Given the description of an element on the screen output the (x, y) to click on. 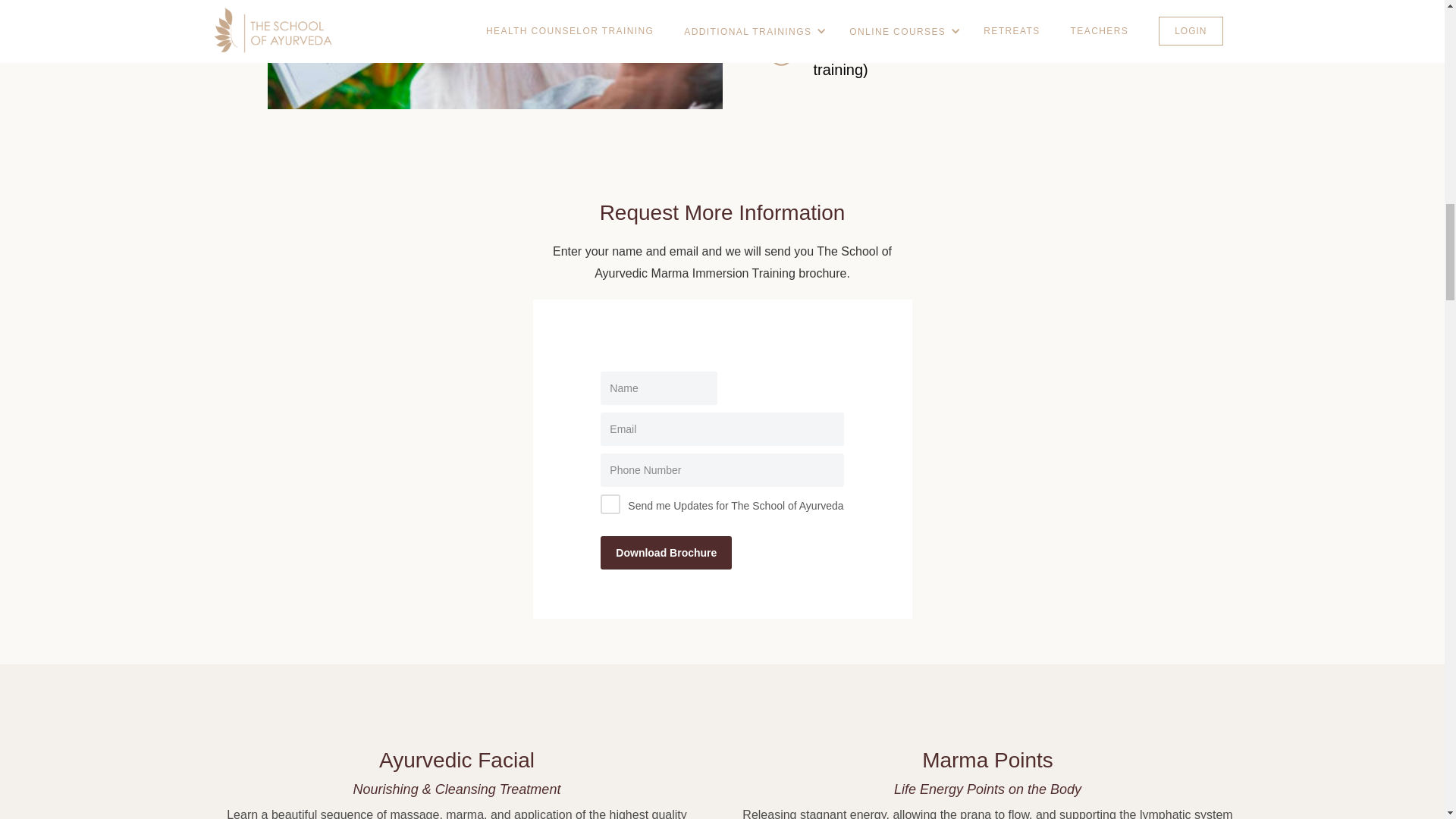
Download Brochure (665, 552)
